Given the description of an element on the screen output the (x, y) to click on. 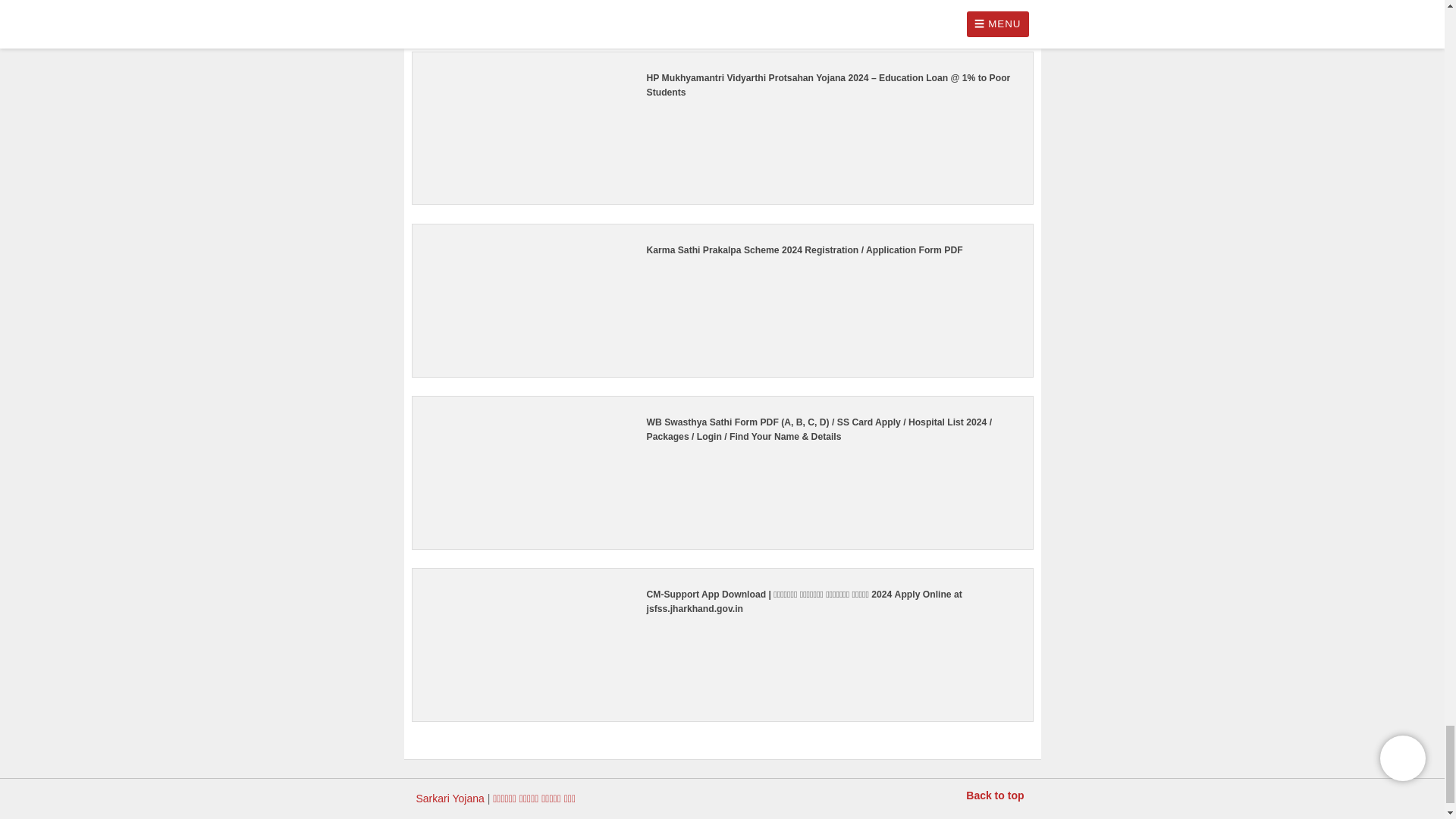
Sarkari Yojana (448, 798)
Back to top (994, 794)
